Given the description of an element on the screen output the (x, y) to click on. 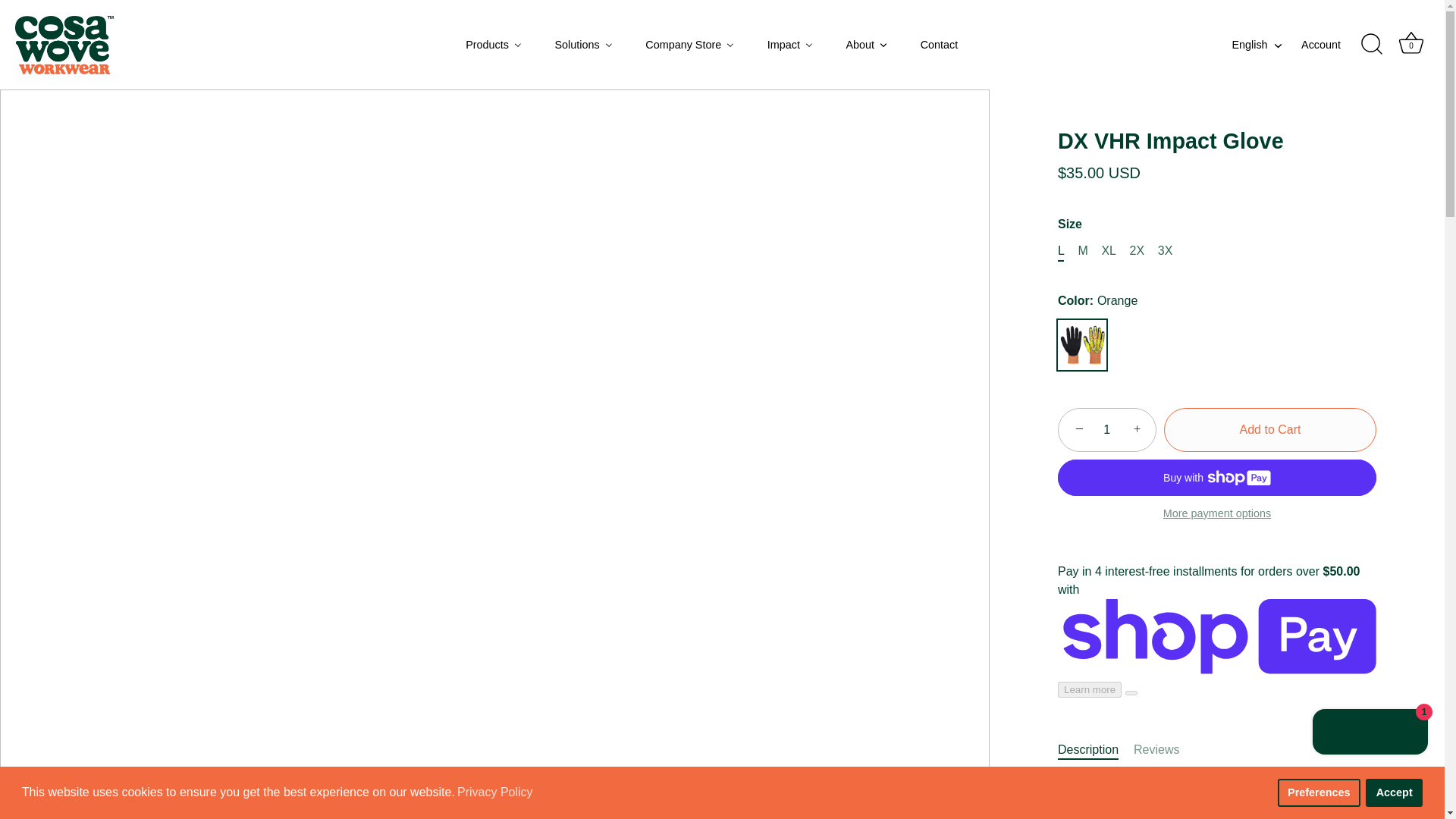
Basket (1410, 42)
Products (493, 44)
